Given the description of an element on the screen output the (x, y) to click on. 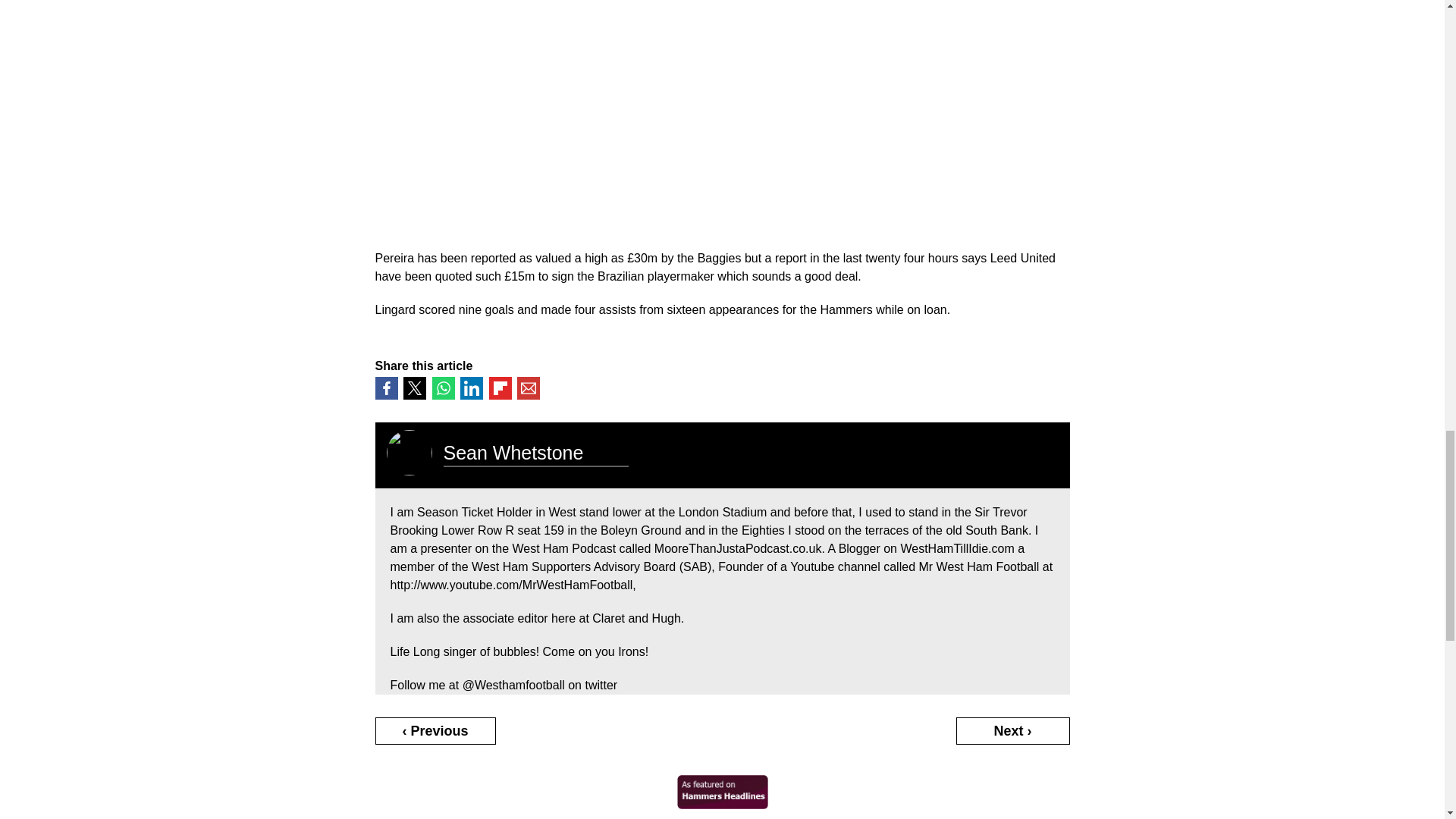
share on Email (528, 387)
share on Twitter (414, 387)
West Ham News (722, 804)
share on WhatsApp (443, 387)
share on LinkedIn (471, 387)
Sean Whetstone (512, 452)
share on Facebook (385, 387)
share on Flipboard (499, 387)
